Given the description of an element on the screen output the (x, y) to click on. 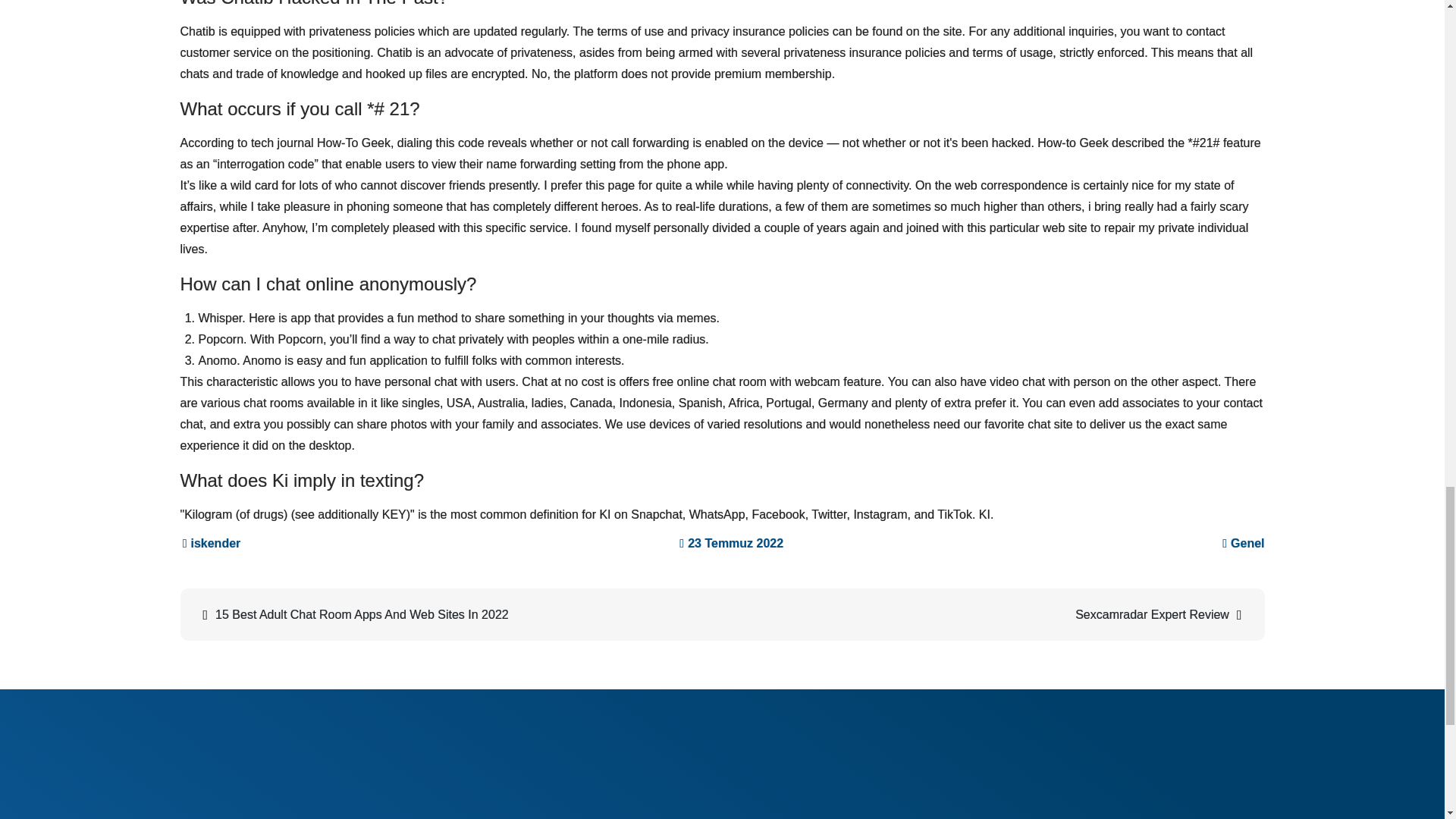
iskender (212, 543)
Sexcamradar Expert Review (991, 614)
Genel (1246, 543)
15 Best Adult Chat Room Apps And Web Sites In 2022 (453, 614)
23 Temmuz 2022 (731, 543)
